Given the description of an element on the screen output the (x, y) to click on. 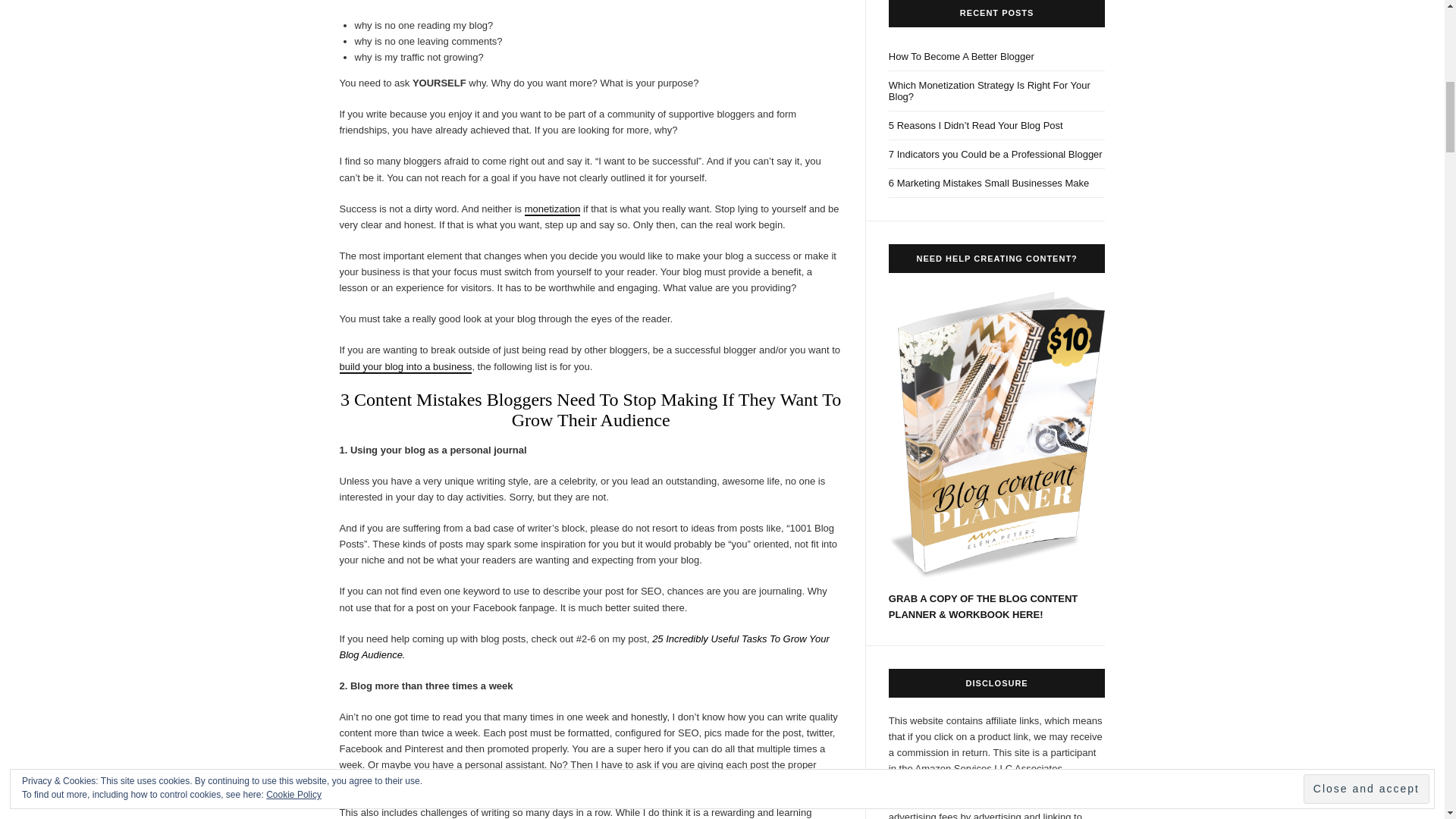
build your blog into a business (405, 367)
monetization (552, 209)
25 Incredibly Useful Tasks To Grow Your Blog Audience. (584, 646)
